Given the description of an element on the screen output the (x, y) to click on. 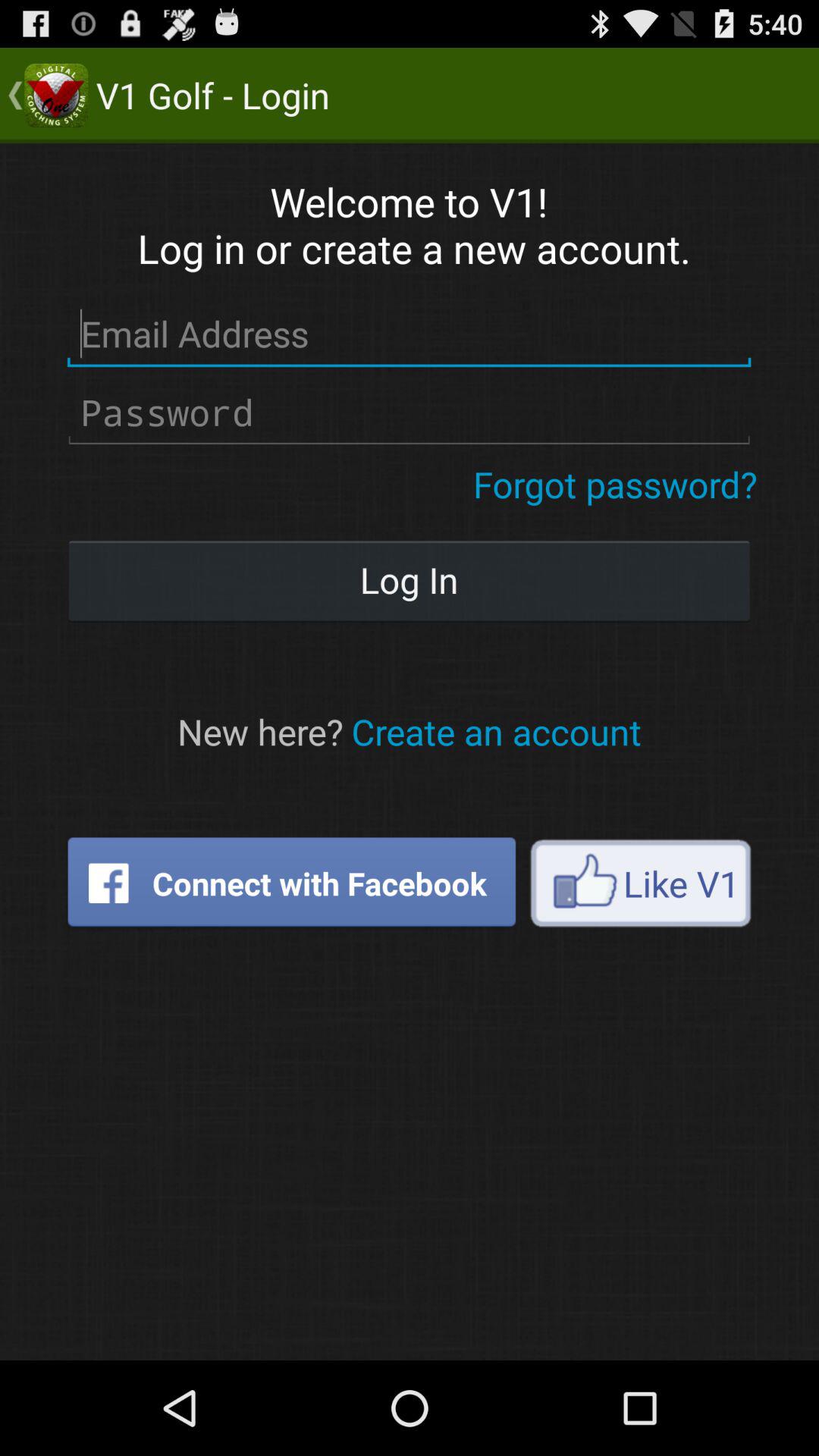
swipe to the connect with facebook (291, 883)
